Given the description of an element on the screen output the (x, y) to click on. 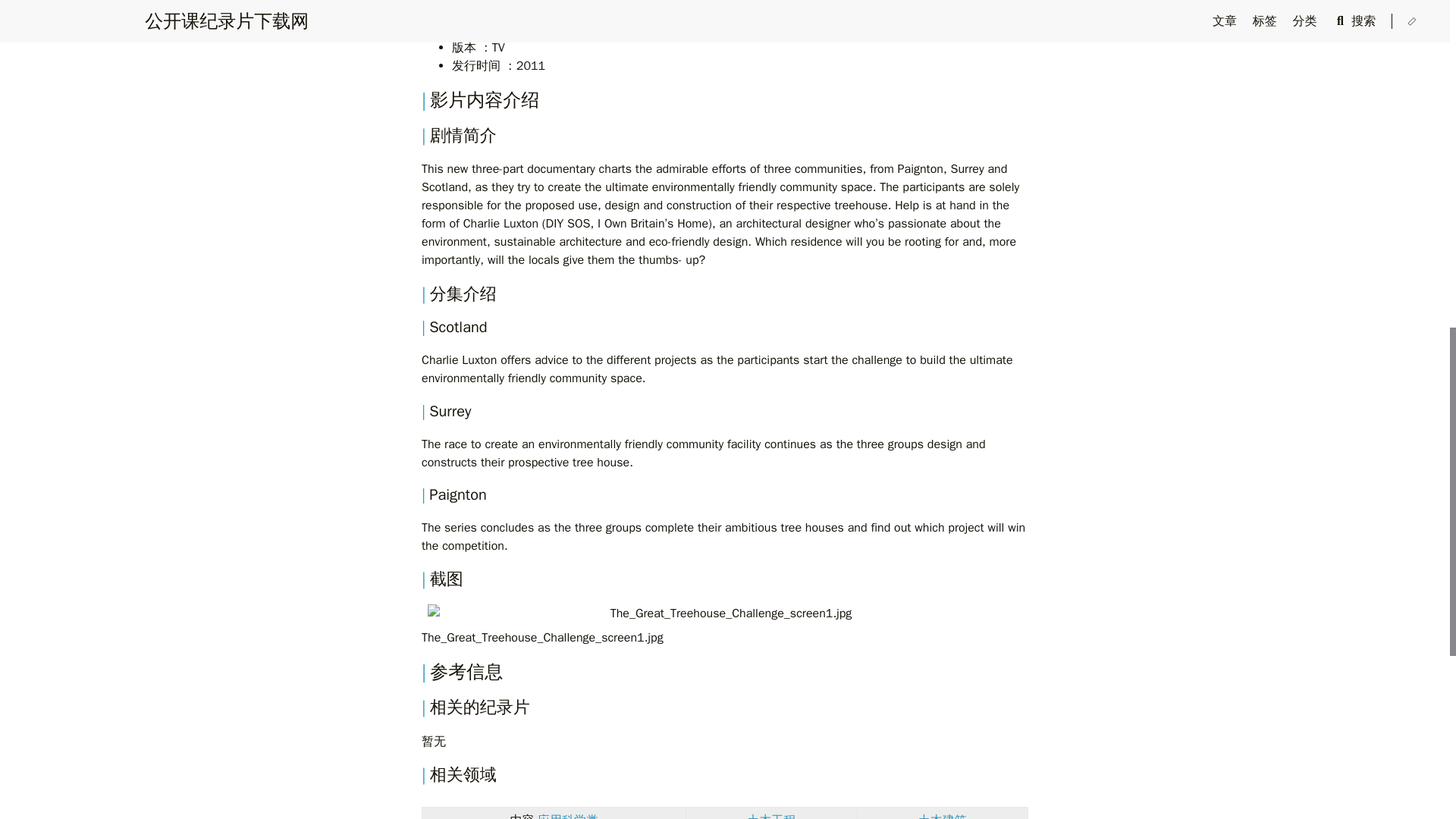
wikilink (770, 816)
wikilink (942, 816)
wikilink (567, 816)
